Given the description of an element on the screen output the (x, y) to click on. 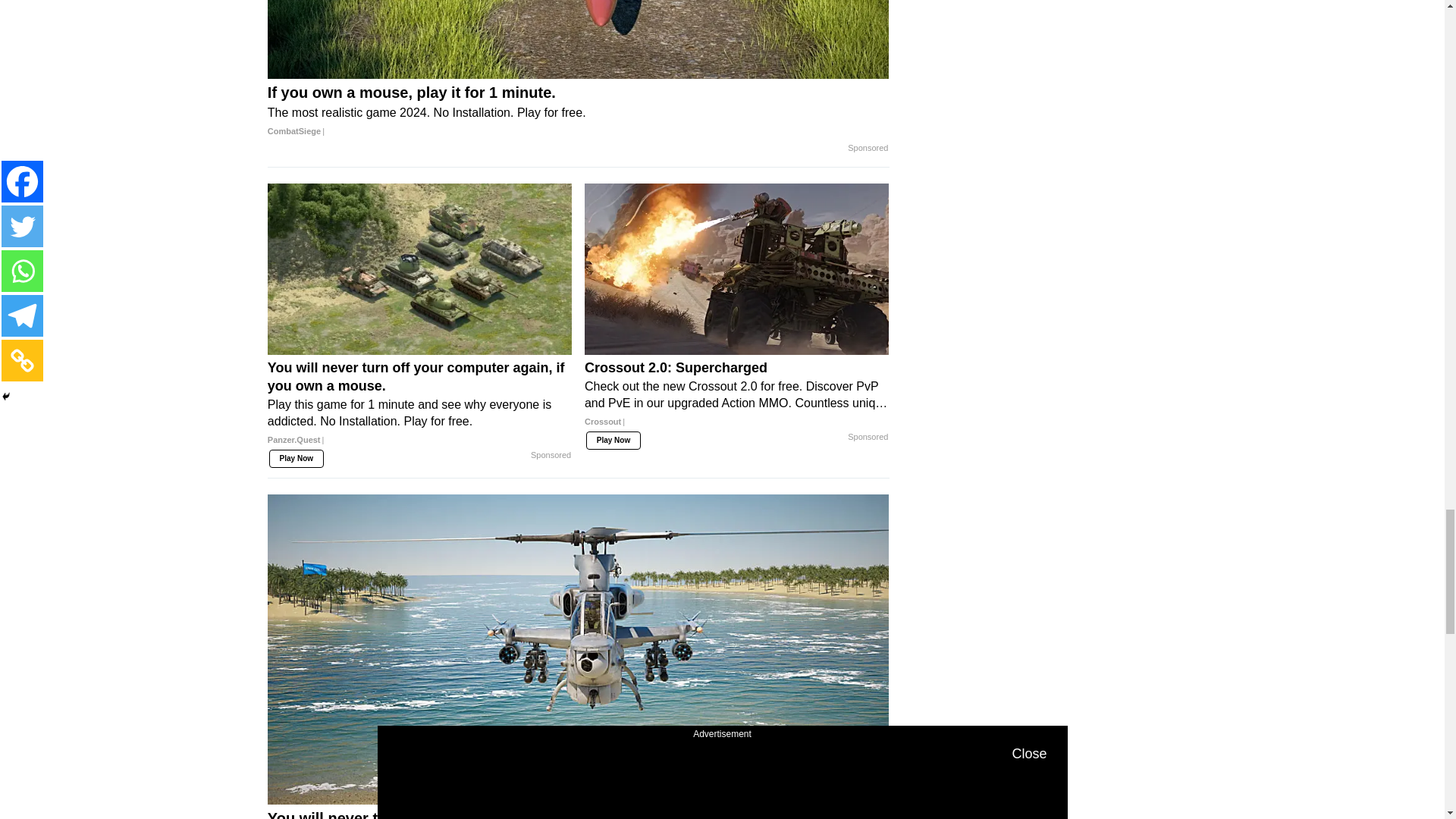
If you own a mouse, play it for 1 minute. (578, 111)
If you own a mouse, play it for 1 minute. (578, 39)
Crossout 2.0: Supercharged (736, 399)
Crossout 2.0: Supercharged (736, 268)
